Given the description of an element on the screen output the (x, y) to click on. 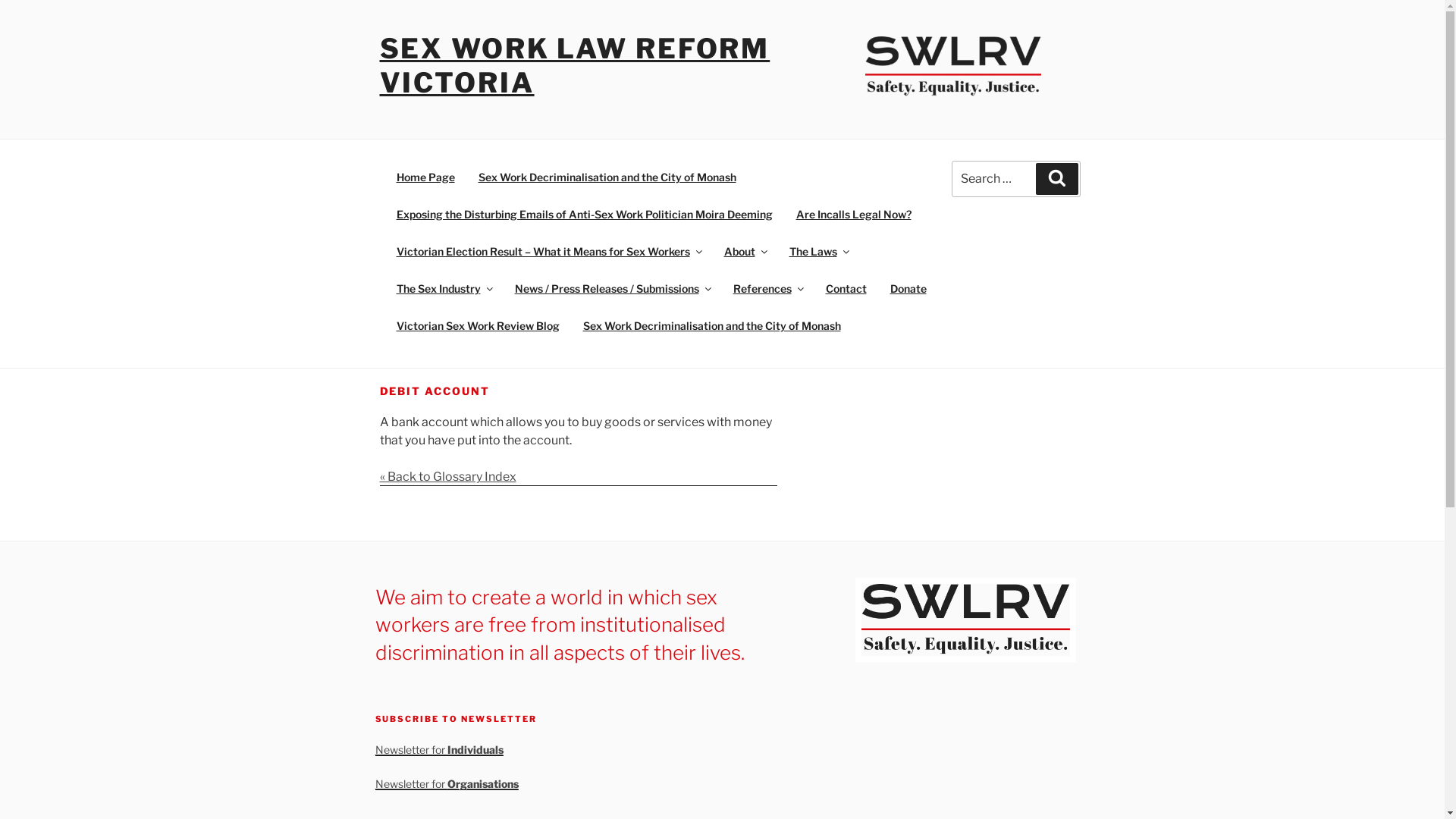
Sex Work Decriminalisation and the City of Monash Element type: text (710, 324)
Home Page Element type: text (424, 175)
Newsletter for Individuals Element type: text (438, 749)
The Laws Element type: text (817, 250)
News / Press Releases / Submissions Element type: text (611, 288)
The Sex Industry Element type: text (443, 288)
Newsletter for Organisations Element type: text (445, 783)
Victorian Sex Work Review Blog Element type: text (477, 324)
Sex Work Decriminalisation and the City of Monash Element type: text (606, 175)
Contact Element type: text (845, 288)
Donate Element type: text (908, 288)
Are Incalls Legal Now? Element type: text (853, 213)
References Element type: text (766, 288)
SEX WORK LAW REFORM VICTORIA Element type: text (574, 65)
About Element type: text (743, 250)
